Given the description of an element on the screen output the (x, y) to click on. 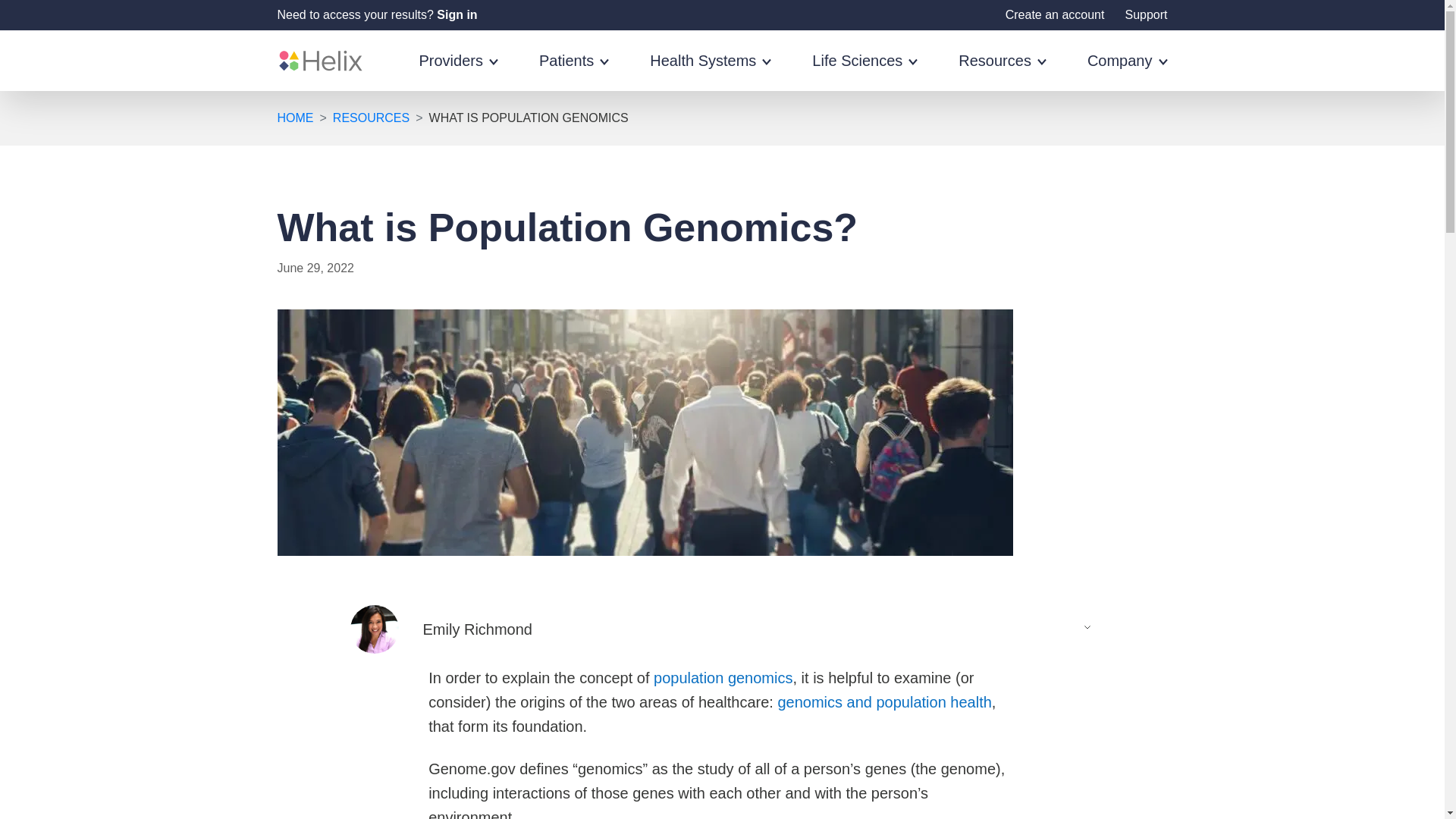
Life Sciences (864, 70)
Create an account (1055, 14)
Sign in (456, 14)
Providers (458, 70)
Support (1145, 14)
Health Systems (710, 70)
Patients (573, 70)
Resources (1002, 70)
